Given the description of an element on the screen output the (x, y) to click on. 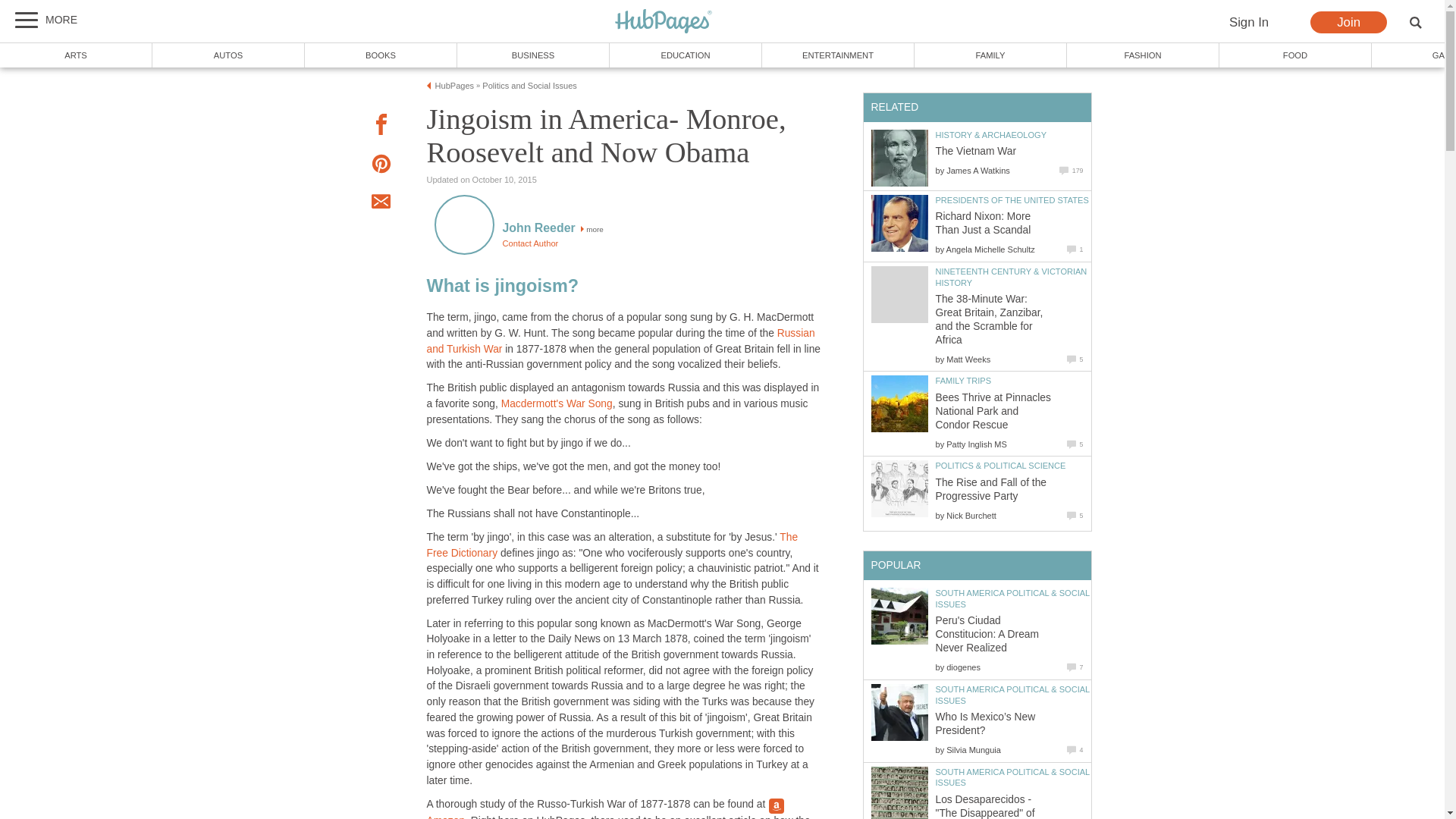
Macdermott's War Song (556, 403)
Email (380, 203)
BOOKS (380, 55)
The Vietnam War (898, 157)
Politics and Social Issues (528, 85)
EDUCATION (685, 55)
HubPages (663, 22)
Sign In (1248, 22)
Richard Nixon: More Than Just a Scandal (898, 222)
John Reeder more (552, 229)
HubPages (663, 22)
The Free Dictionary (611, 544)
Russian and Turkish War (619, 340)
Contact Author (529, 243)
Amazon (606, 808)
